Given the description of an element on the screen output the (x, y) to click on. 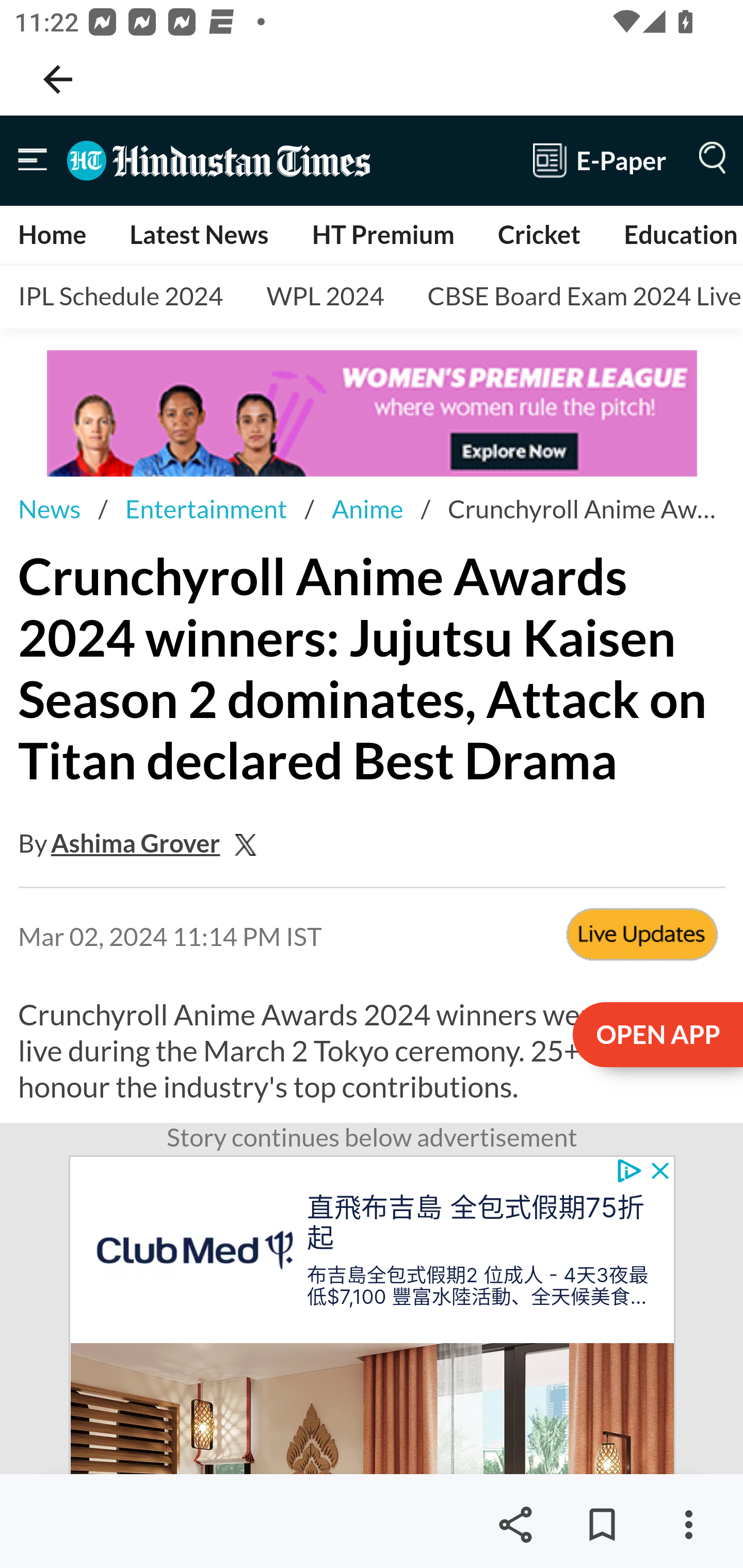
Navigate up (57, 79)
Menu Menu Menu Menu (708, 159)
E-Paper E-Paper E-Paper E-Paper E-Paper (599, 160)
Menu Menu (32, 160)
Home (52, 233)
Latest News (197, 233)
HT Premium (382, 233)
Cricket (538, 233)
Education (680, 233)
IPL Schedule 2024 (120, 297)
WPL 2024 (324, 297)
CBSE Board Exam 2024 Live (577, 297)
News (48, 508)
Entertainment (206, 508)
Anime (366, 508)
Ashima Grover (136, 842)
25_ashima (249, 843)
Cricket Page (641, 936)
OPEN APP (656, 1035)
Share (514, 1524)
Save for later (601, 1524)
More options (688, 1524)
